Given the description of an element on the screen output the (x, y) to click on. 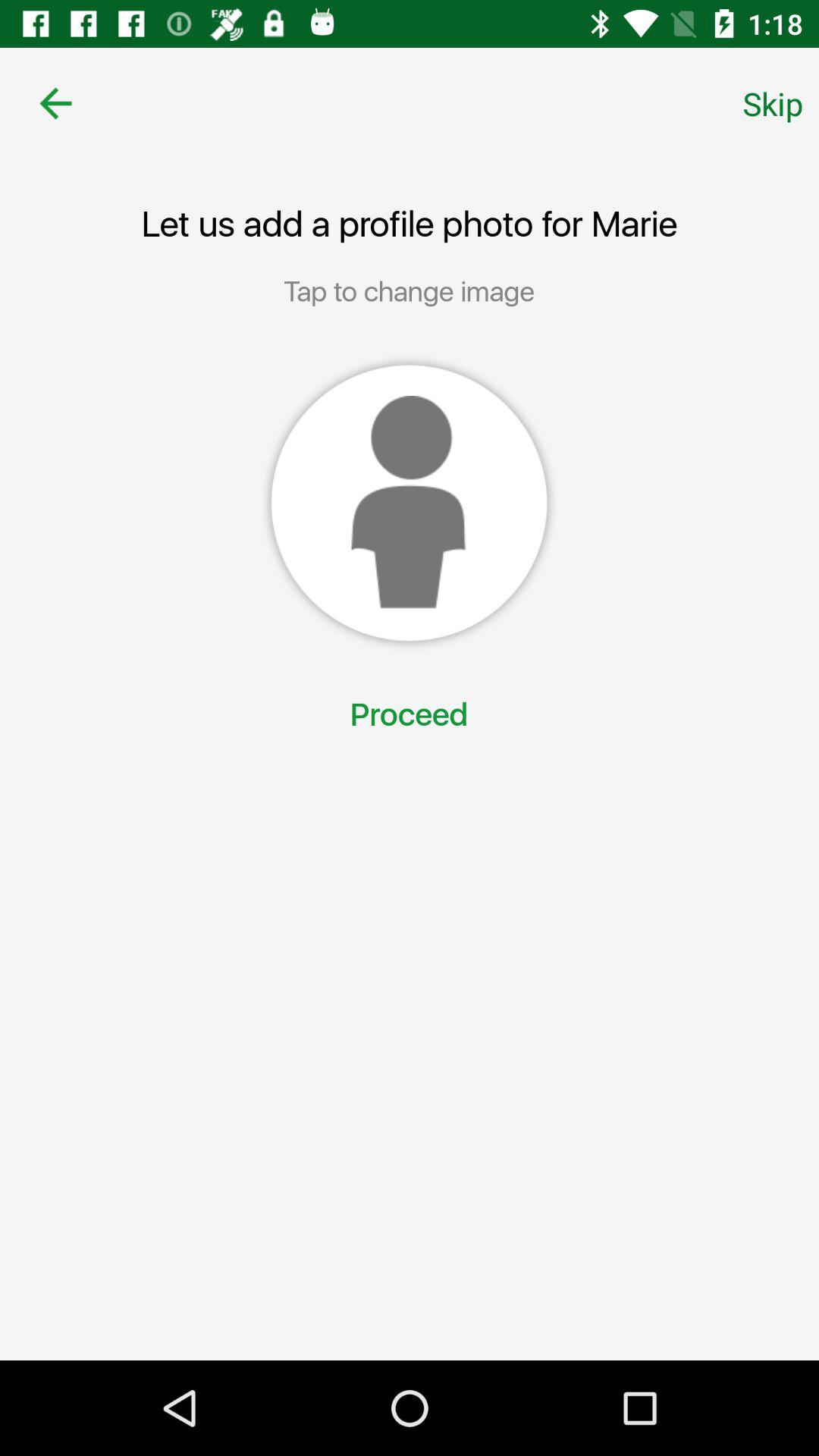
go back (55, 103)
